Given the description of an element on the screen output the (x, y) to click on. 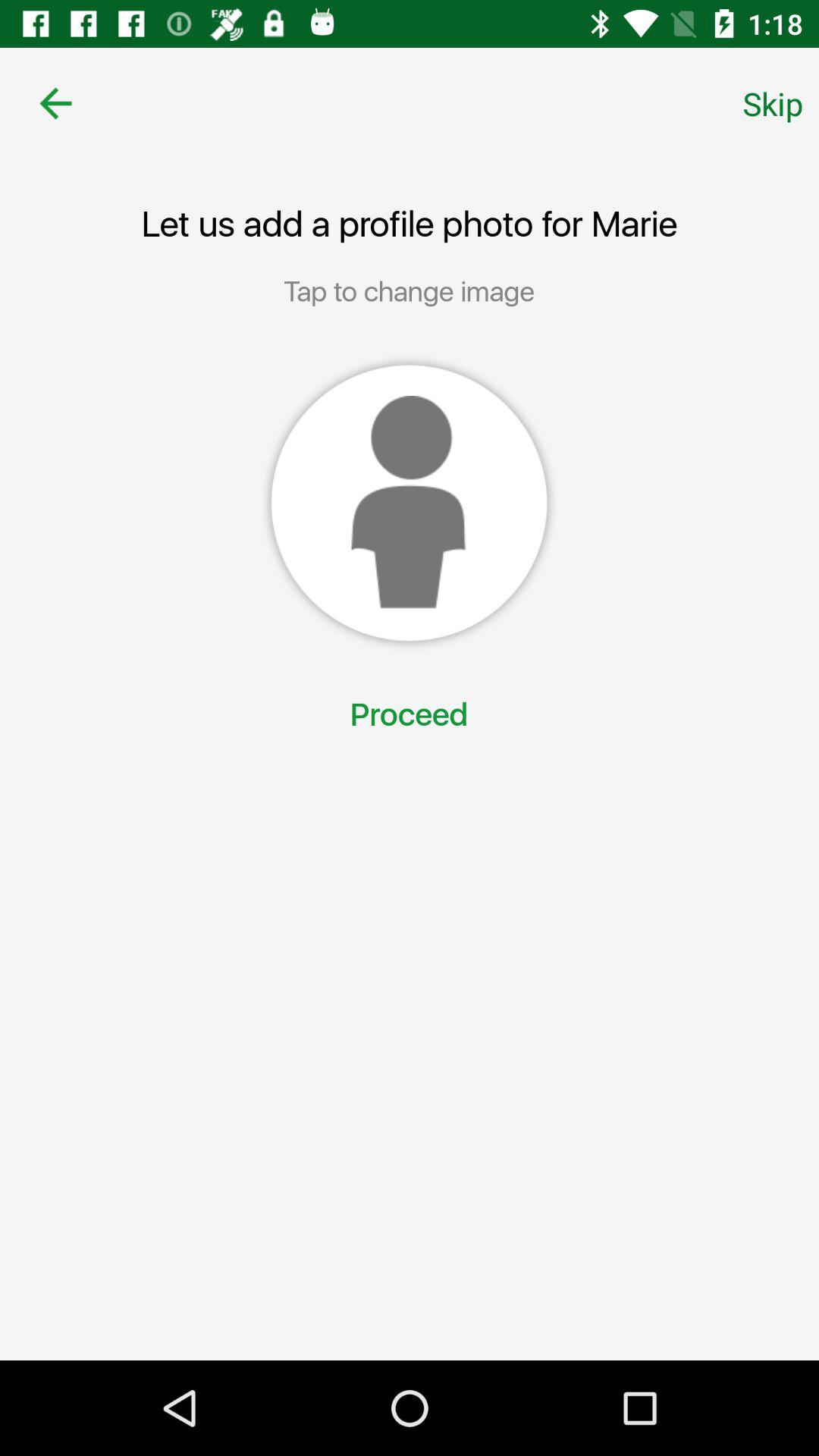
go back (55, 103)
